Given the description of an element on the screen output the (x, y) to click on. 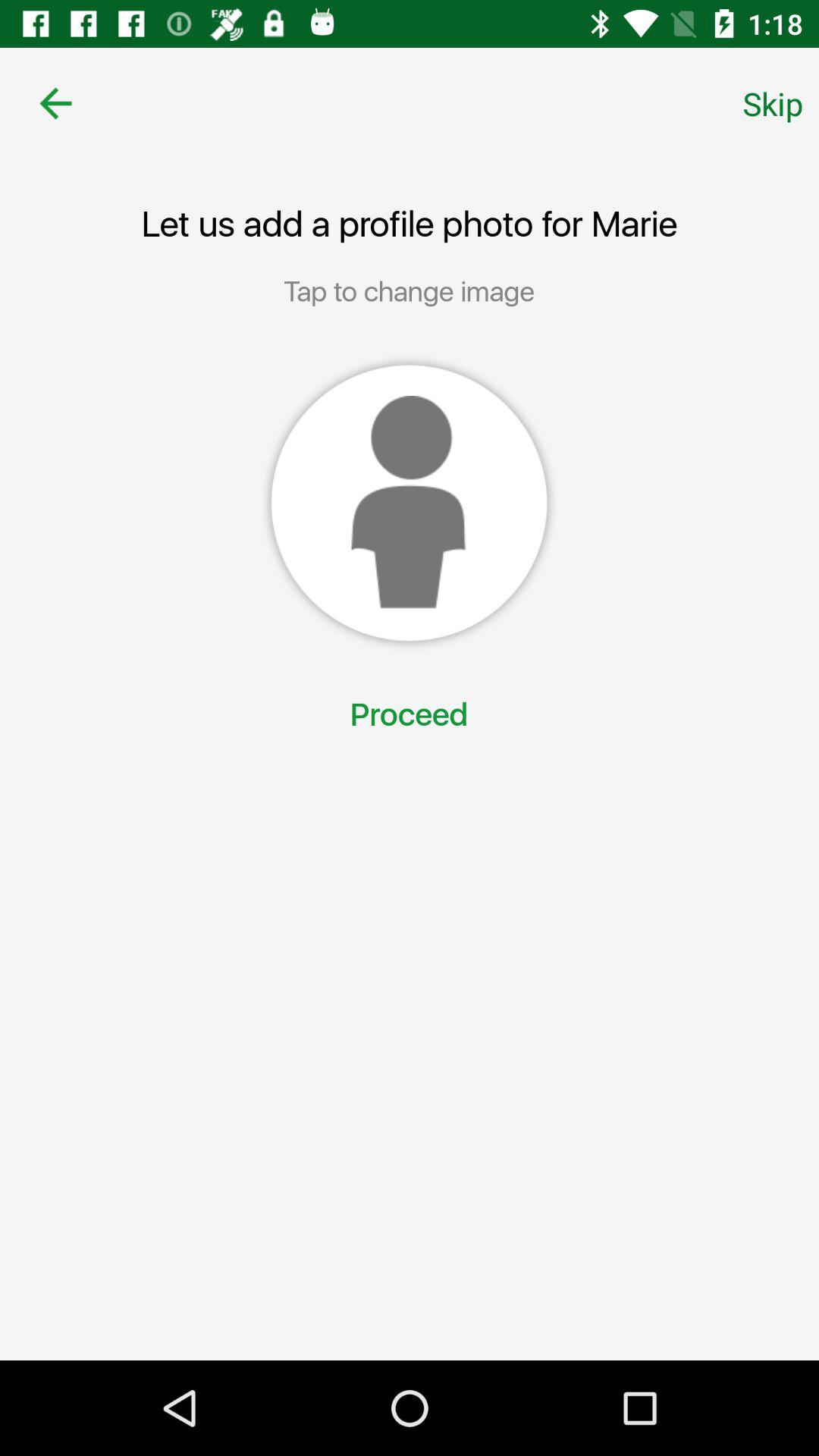
go back (55, 103)
